Given the description of an element on the screen output the (x, y) to click on. 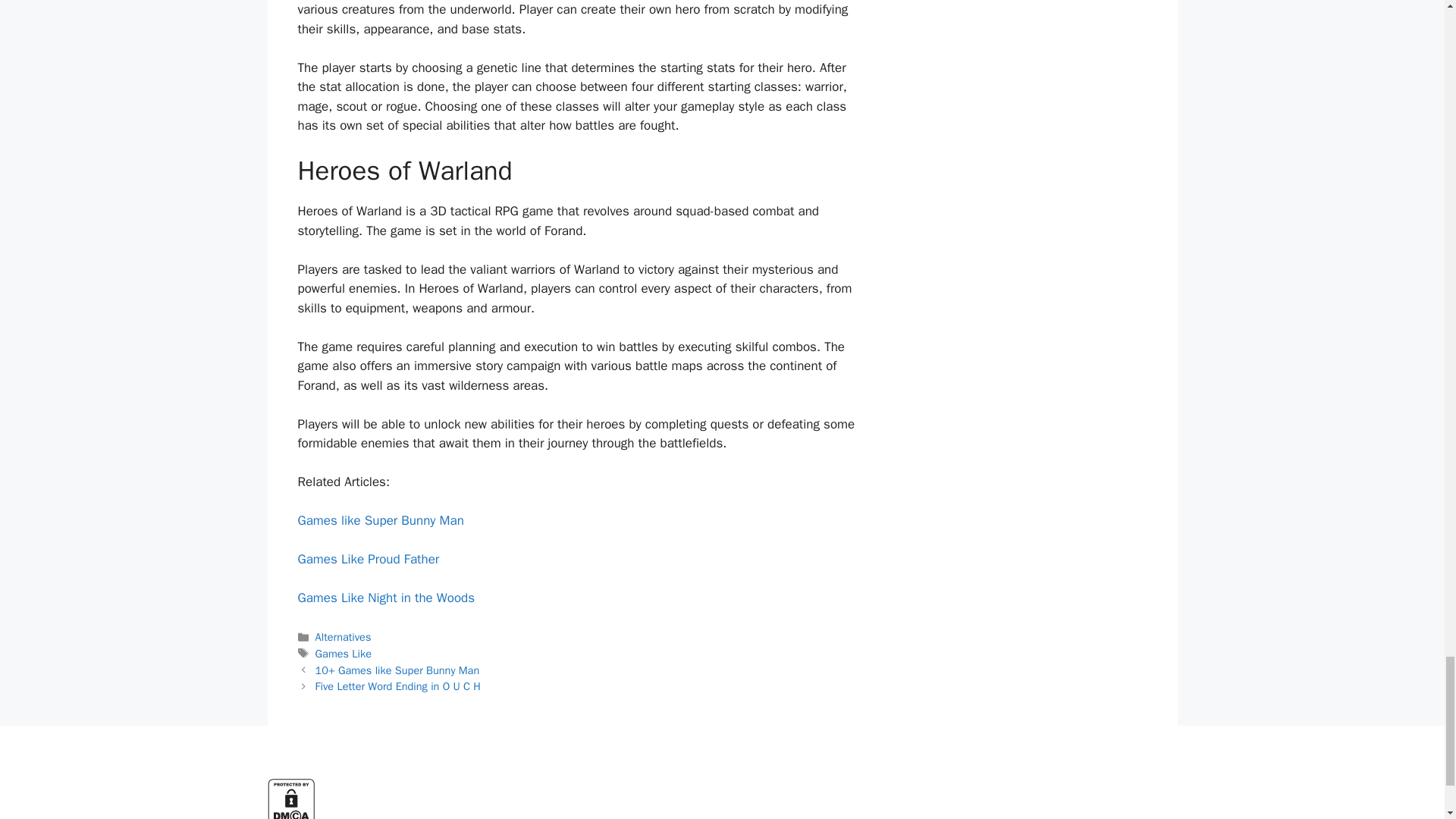
Five Letter Word Ending in O U C H (397, 685)
Games Like Night in the Woods (385, 597)
DMCA.com Protection Status (290, 816)
Games like Super Bunny Man (380, 520)
Games Like Proud Father (368, 559)
Games Like (343, 653)
Alternatives (343, 636)
